Given the description of an element on the screen output the (x, y) to click on. 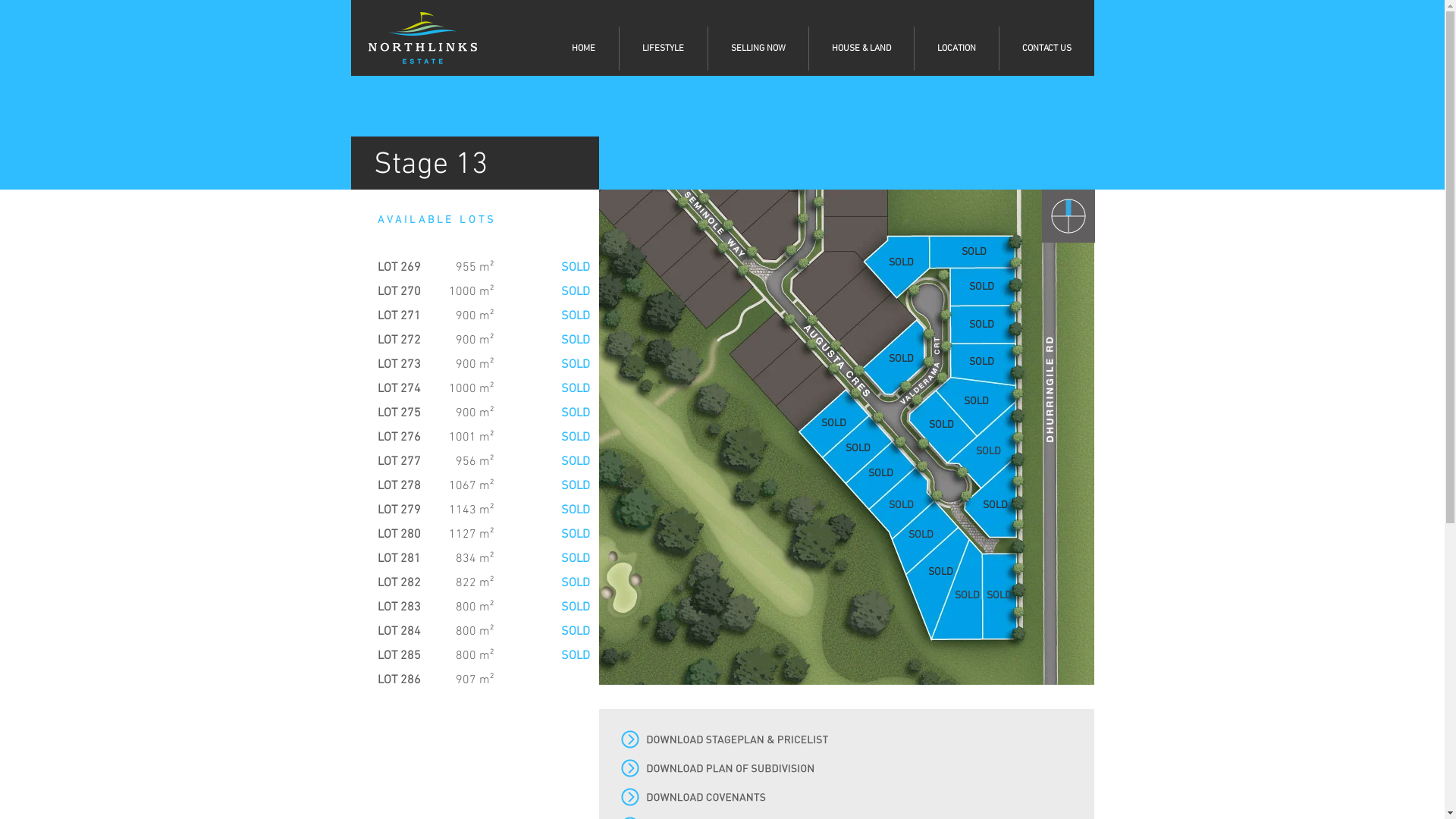
SOLD Element type: text (967, 595)
LOT 269 Element type: text (398, 267)
LOT 278 Element type: text (398, 485)
LOT 279 Element type: text (398, 509)
LOT 283 Element type: text (398, 607)
LOT 270 Element type: text (398, 291)
LOT 281 Element type: text (398, 558)
HOUSE & LAND Element type: text (860, 48)
LOT 276 Element type: text (398, 437)
HOME Element type: text (583, 48)
LOT 274 Element type: text (398, 388)
SELLING NOW Element type: text (758, 48)
LOT 272 Element type: text (398, 340)
LOT 275 Element type: text (398, 412)
LOT 282 Element type: text (398, 582)
LOT 280 Element type: text (398, 534)
LOT 284 Element type: text (398, 631)
LOT 286 Element type: text (398, 679)
LOT 273 Element type: text (398, 364)
LOCATION Element type: text (956, 48)
LOT 277 Element type: text (398, 461)
LIFESTYLE Element type: text (662, 48)
LOT 271 Element type: text (398, 315)
LOT 285 Element type: text (398, 655)
CONTACT US Element type: text (1046, 48)
